Given the description of an element on the screen output the (x, y) to click on. 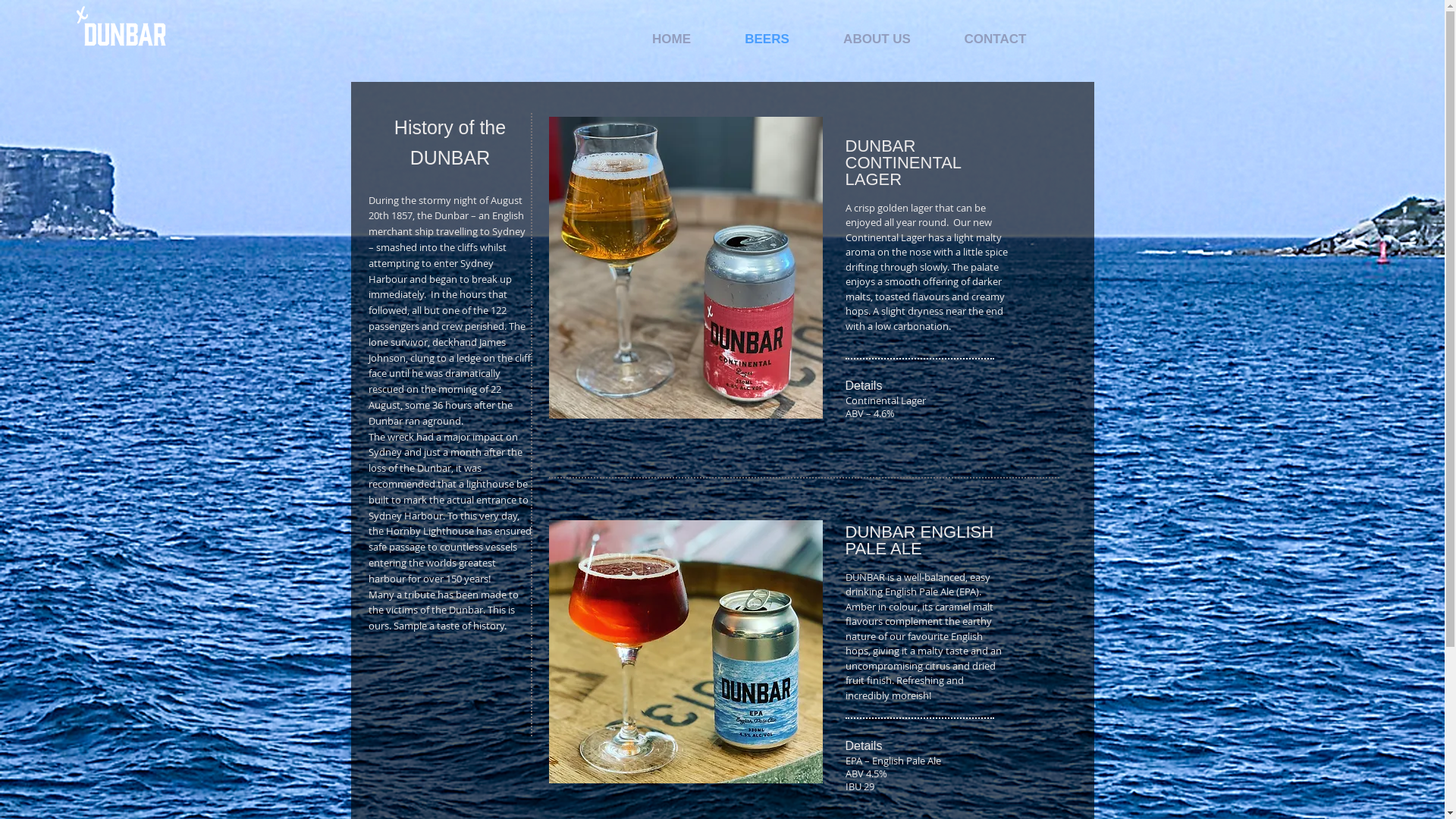
BEERS Element type: text (766, 39)
CONTACT Element type: text (994, 39)
ABOUT US Element type: text (876, 39)
HOME Element type: text (670, 39)
